Given the description of an element on the screen output the (x, y) to click on. 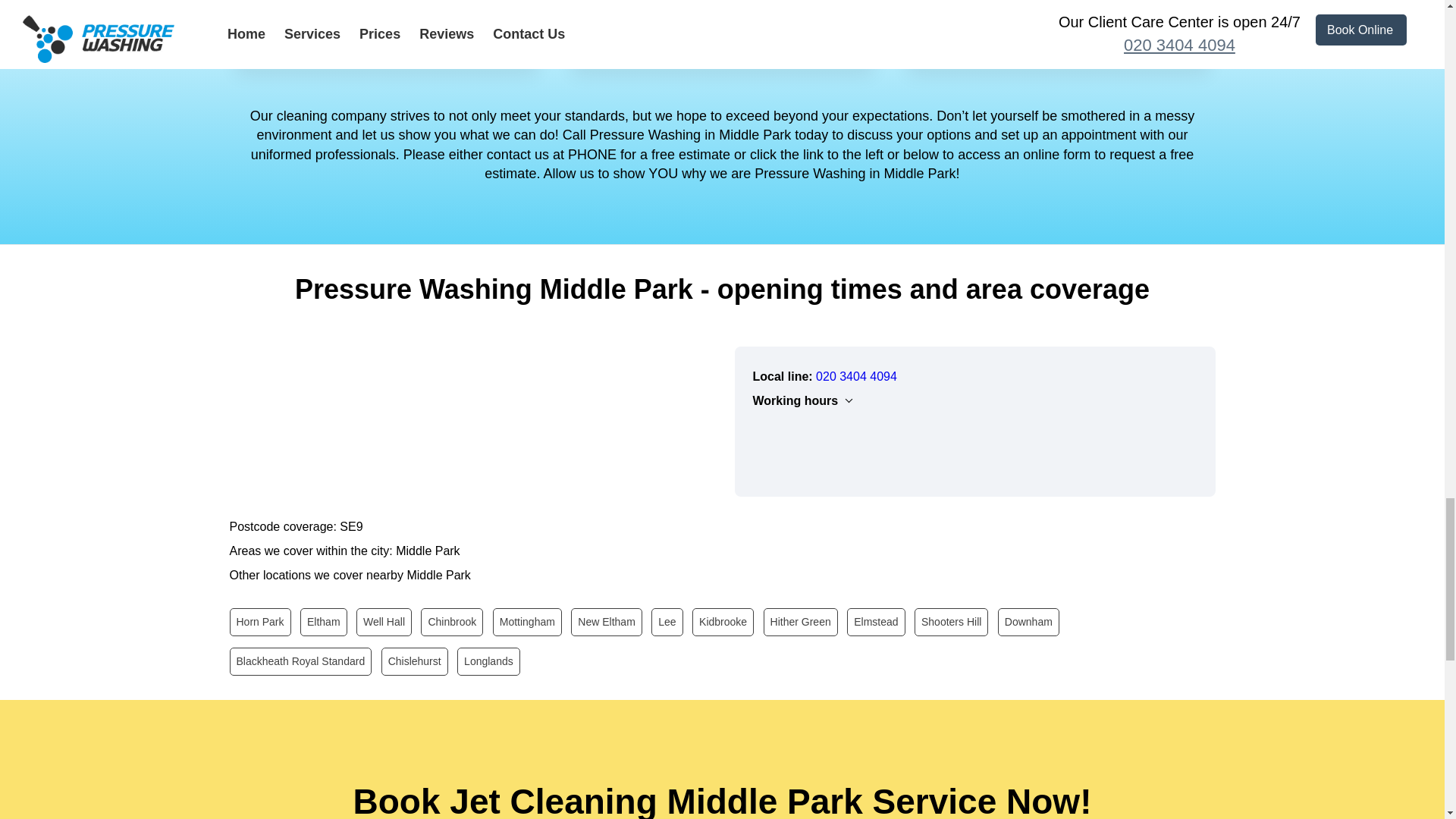
New Eltham (606, 622)
Mottingham (527, 622)
Well Hall (384, 622)
Shooters Hill (951, 622)
Hither Green (800, 622)
Horn Park (258, 622)
Mottingham (527, 622)
020 3404 4094 (855, 376)
Call Pressure Washing in Middle Park (855, 376)
Eltham (323, 622)
